Given the description of an element on the screen output the (x, y) to click on. 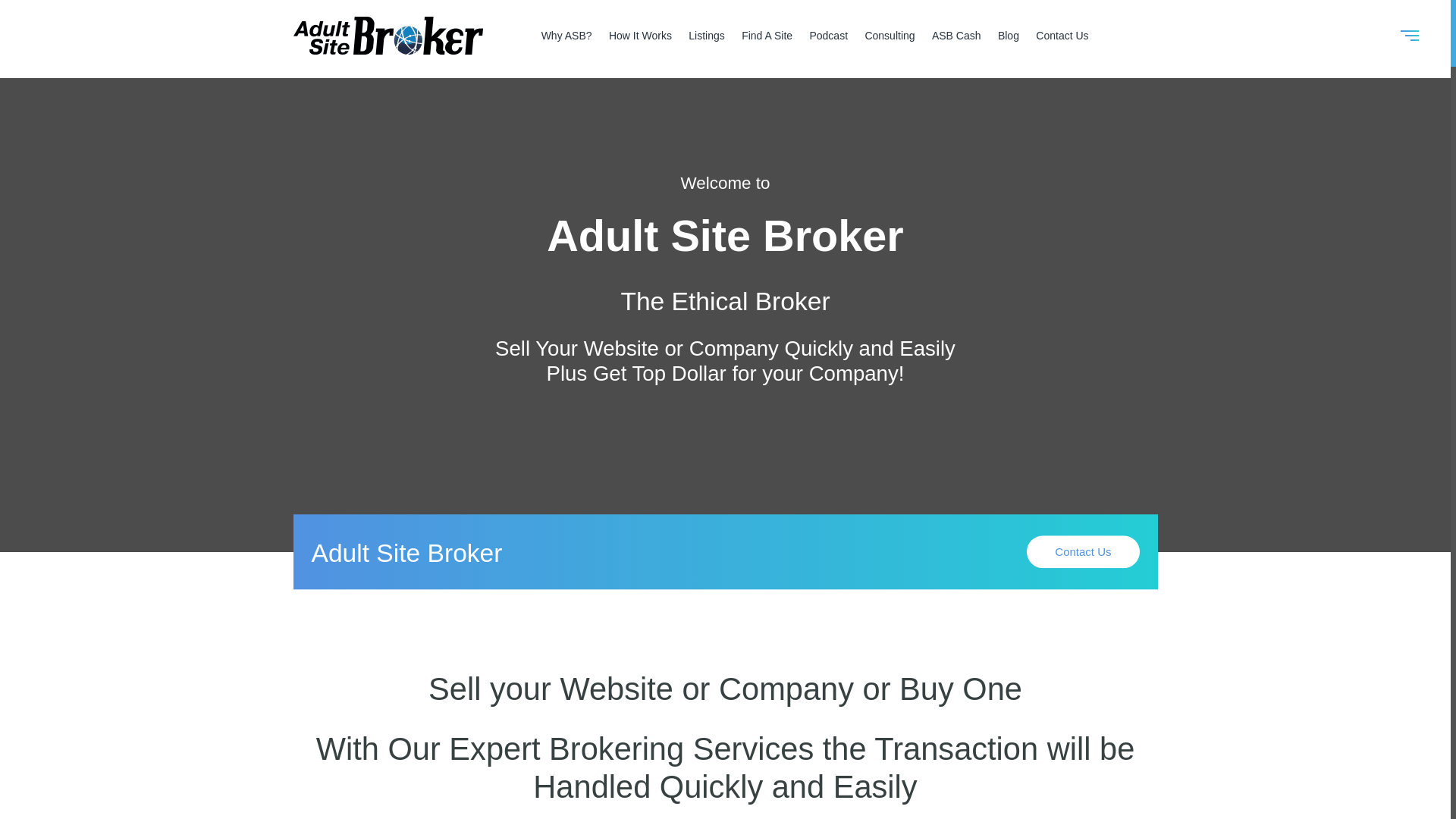
Podcast (828, 35)
Consulting (889, 35)
Why ASB? (566, 35)
Contact Us (1061, 35)
Listings (705, 35)
Find A Site (766, 35)
How It Works (639, 35)
Contact Us (1082, 551)
ASB Cash (956, 35)
